Given the description of an element on the screen output the (x, y) to click on. 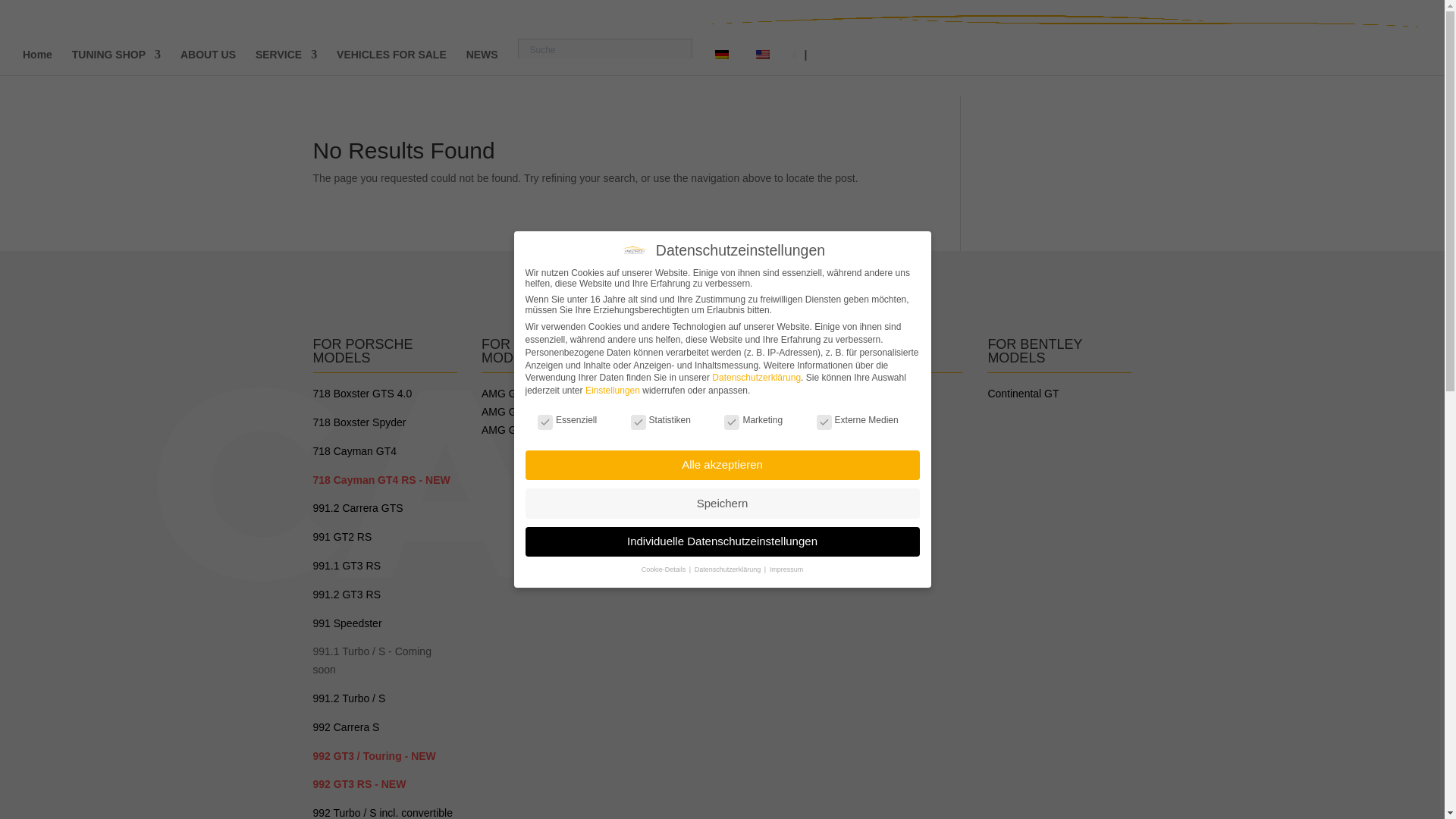
NEWS (481, 62)
Home (37, 62)
ABOUT US (207, 62)
718 Cayman GT4 RS - NEW (381, 480)
TUNING SHOP (115, 62)
VEHICLES FOR SALE (391, 62)
SERVICE (286, 62)
